Given the description of an element on the screen output the (x, y) to click on. 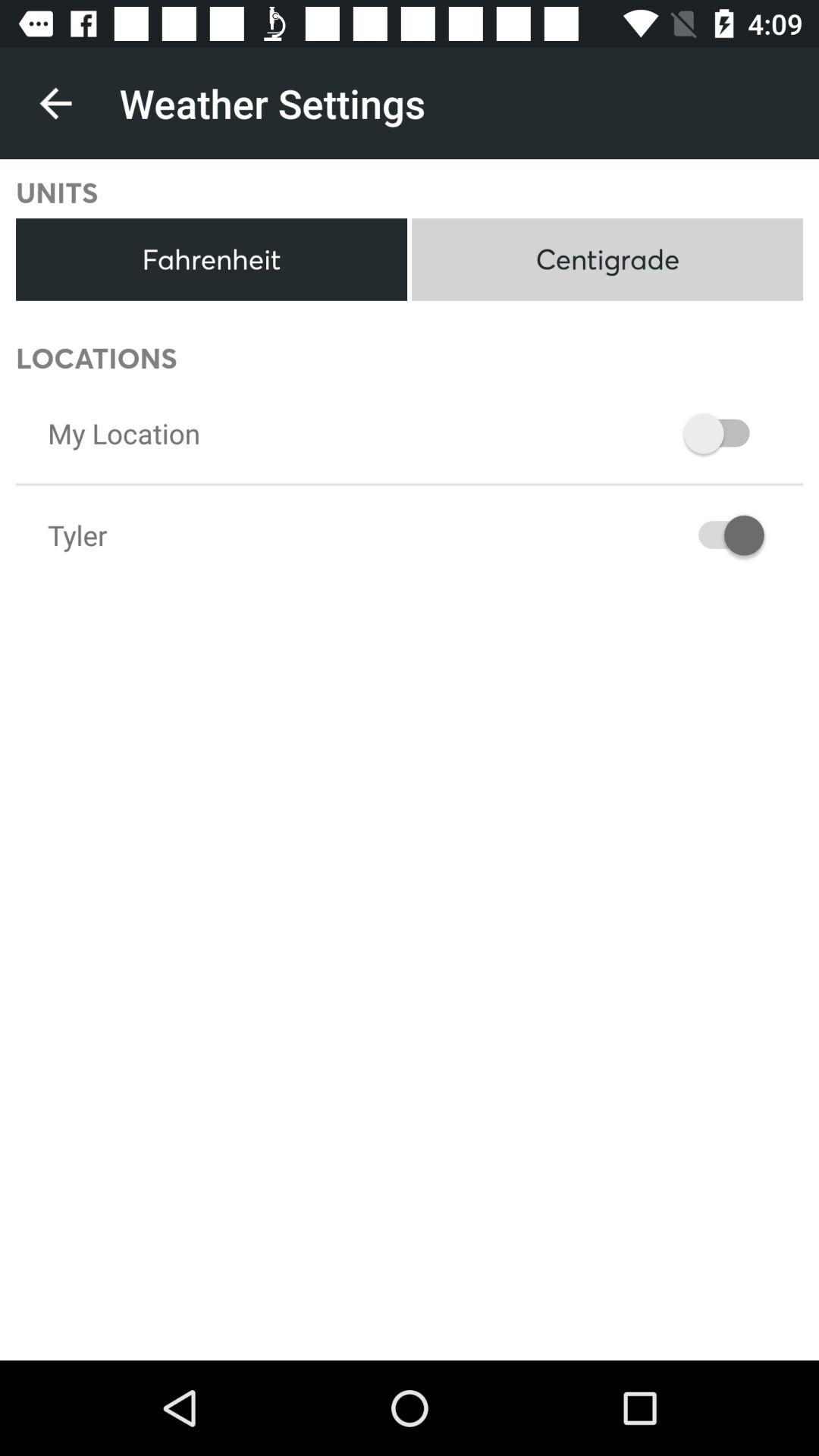
select icon above units icon (55, 103)
